Given the description of an element on the screen output the (x, y) to click on. 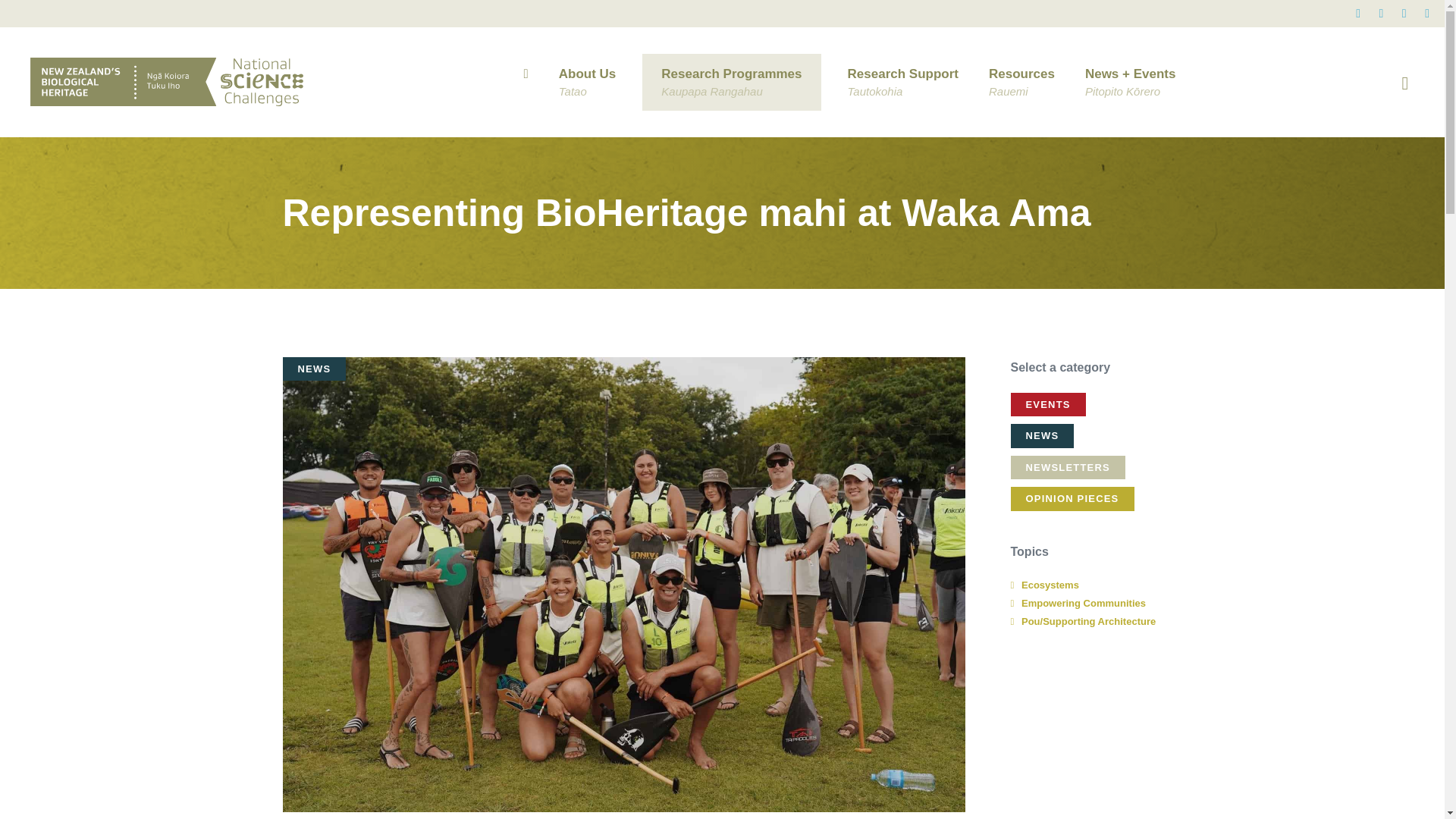
Biological Heritage Flipped (587, 82)
Img 4102 (166, 81)
